Given the description of an element on the screen output the (x, y) to click on. 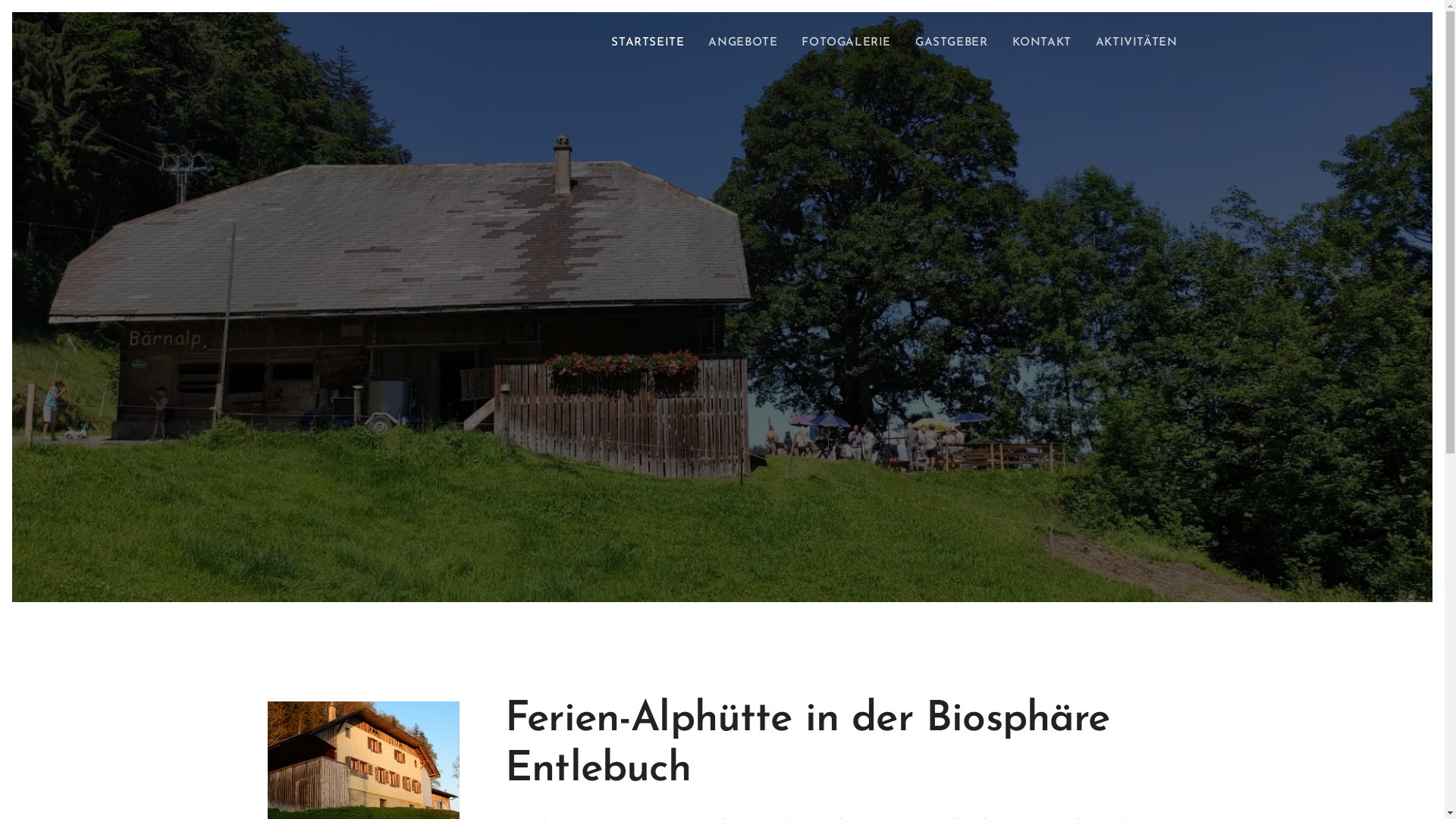
ANGEBOTE Element type: text (742, 43)
KONTAKT Element type: text (1041, 43)
FOTOGALERIE Element type: text (846, 43)
GASTGEBER Element type: text (951, 43)
STARTSEITE Element type: text (651, 43)
